Given the description of an element on the screen output the (x, y) to click on. 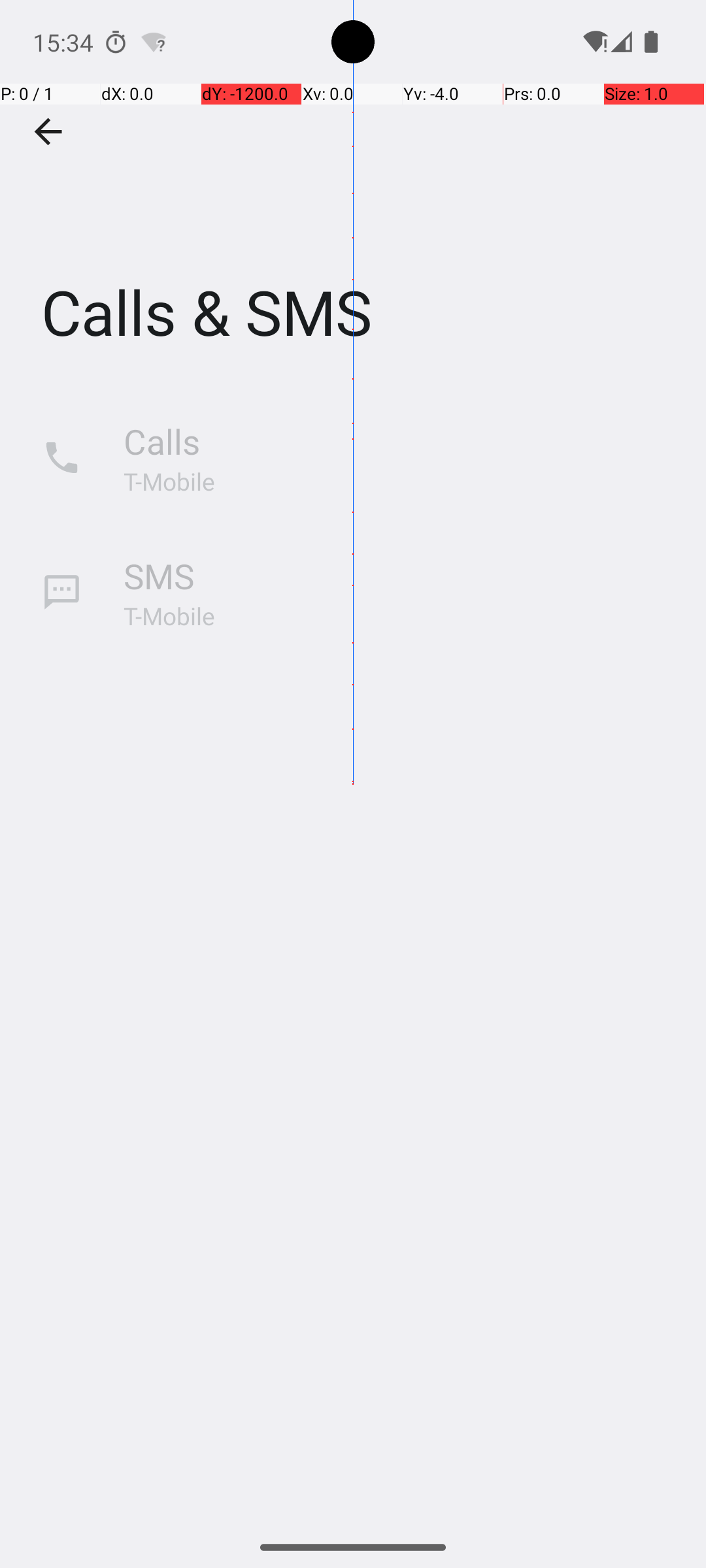
Calls & SMS Element type: android.widget.FrameLayout (353, 195)
Calls Element type: android.widget.TextView (161, 441)
T-Mobile Element type: android.widget.TextView (169, 480)
